Given the description of an element on the screen output the (x, y) to click on. 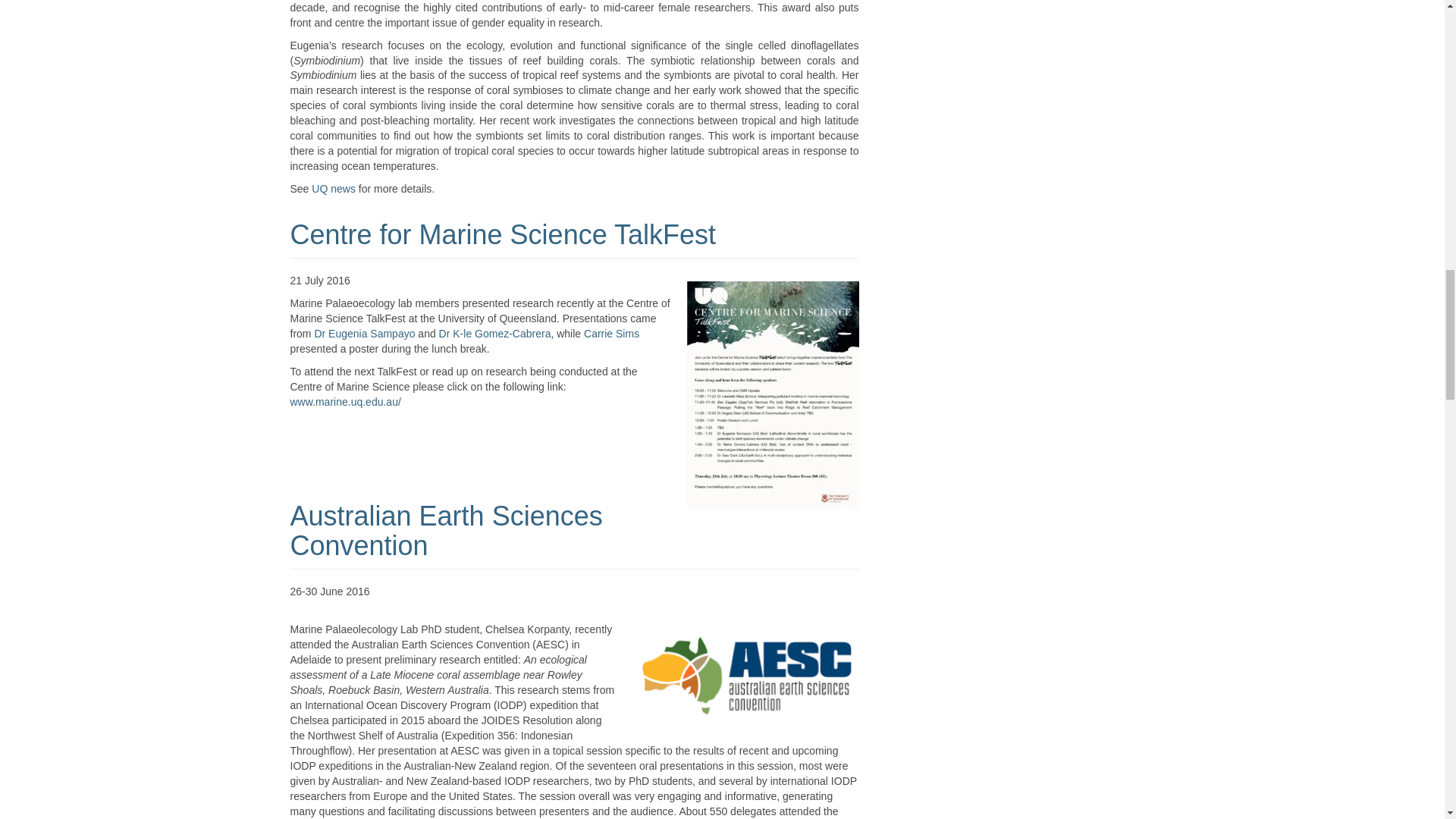
Dr Eugenia Sampayo (364, 333)
Centre for Marine Science TalkFest (502, 234)
UQ news (333, 188)
Dr K-le Gomez-Cabrera (495, 333)
Carrie Sims (611, 333)
Australian Earth Sciences Convention (445, 530)
